Given the description of an element on the screen output the (x, y) to click on. 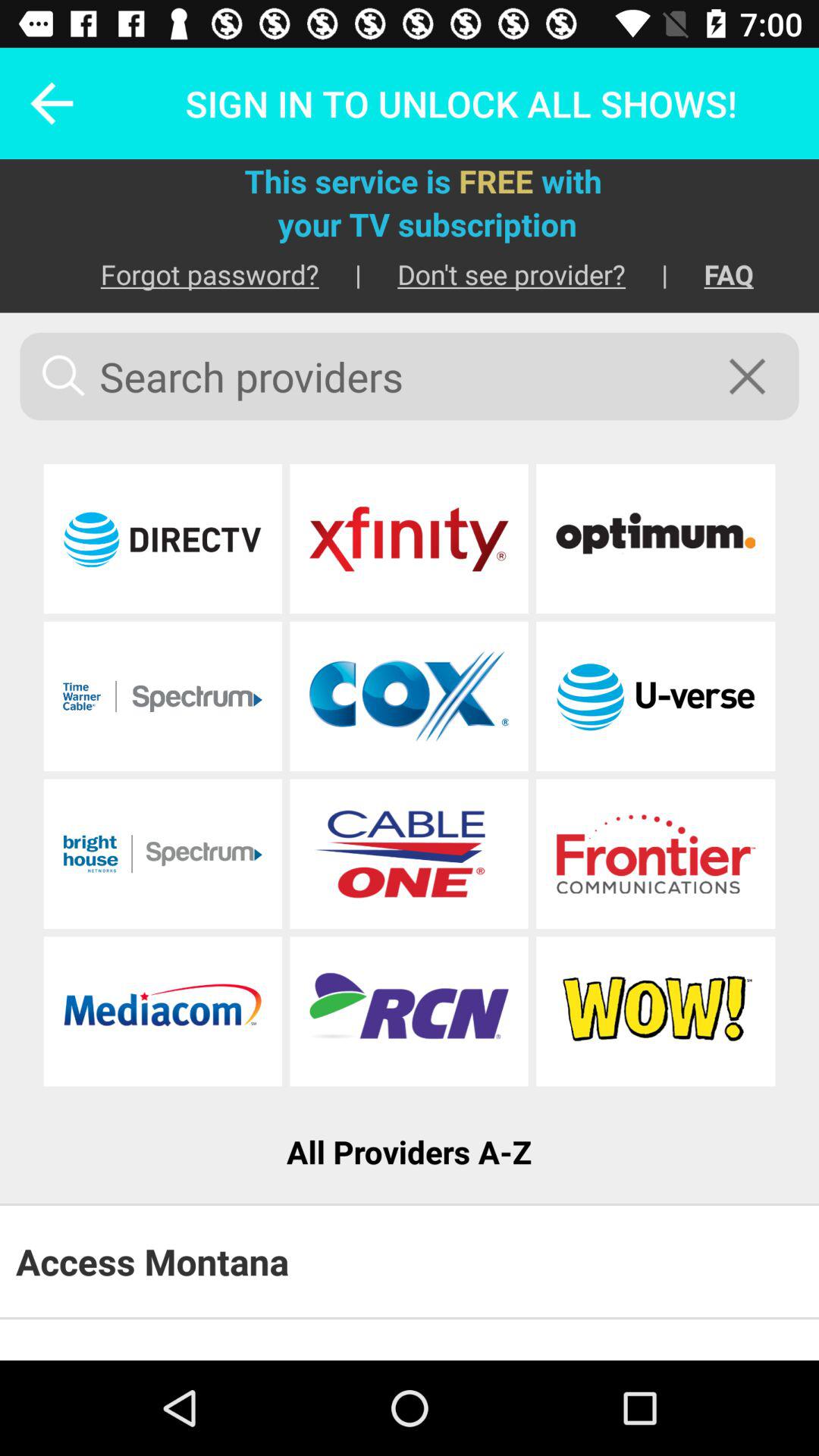
select provider (655, 853)
